Given the description of an element on the screen output the (x, y) to click on. 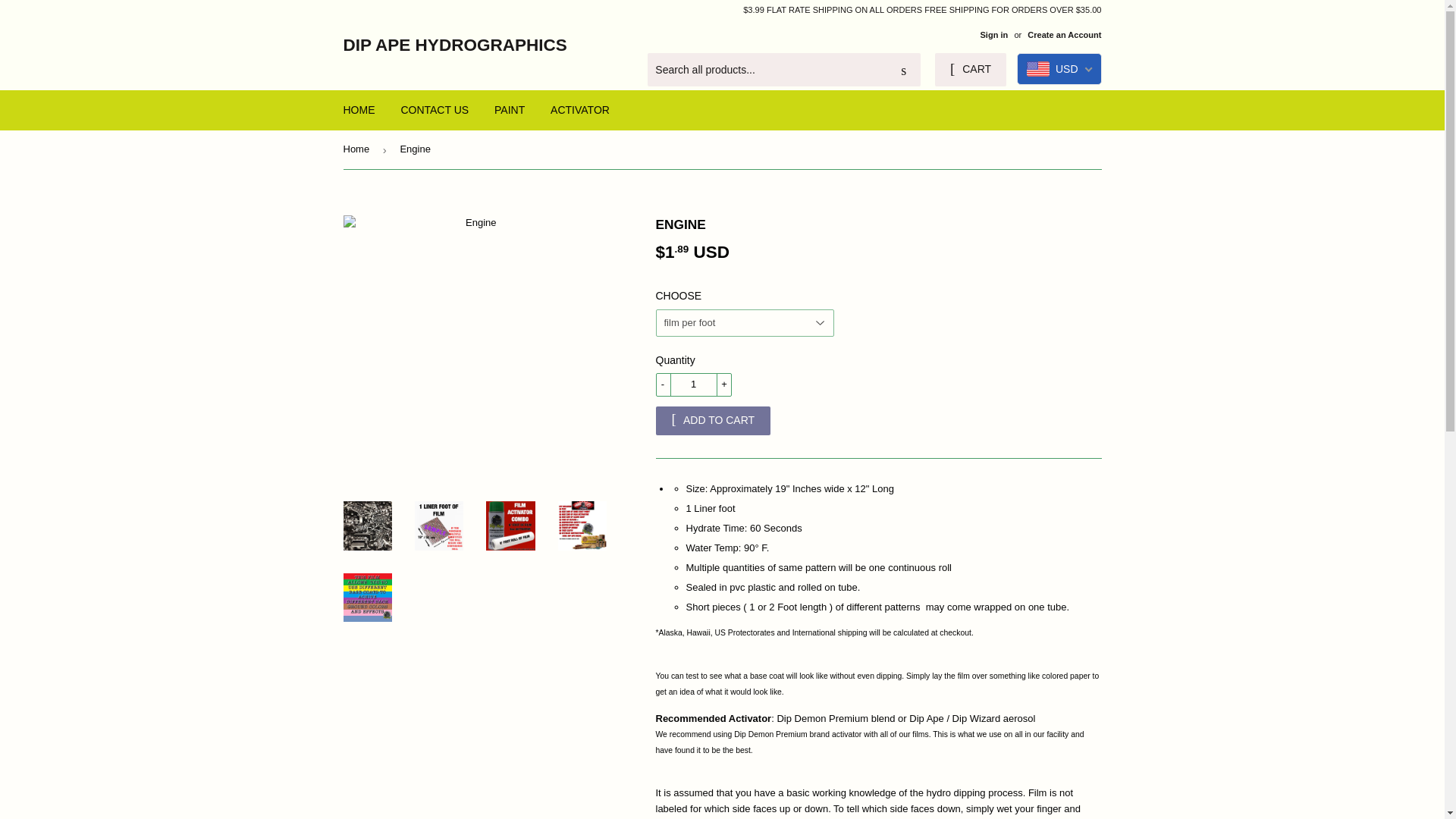
Home (358, 149)
PAINT (509, 109)
Search (903, 70)
ACTIVATOR (579, 109)
Create an Account (1063, 34)
Sign in (993, 34)
DIP APE HYDROGRAPHICS (494, 45)
1 (692, 384)
CONTACT US (434, 109)
Back to the frontpage (358, 149)
HOME (359, 109)
ADD TO CART (712, 420)
CART (970, 69)
